Given the description of an element on the screen output the (x, y) to click on. 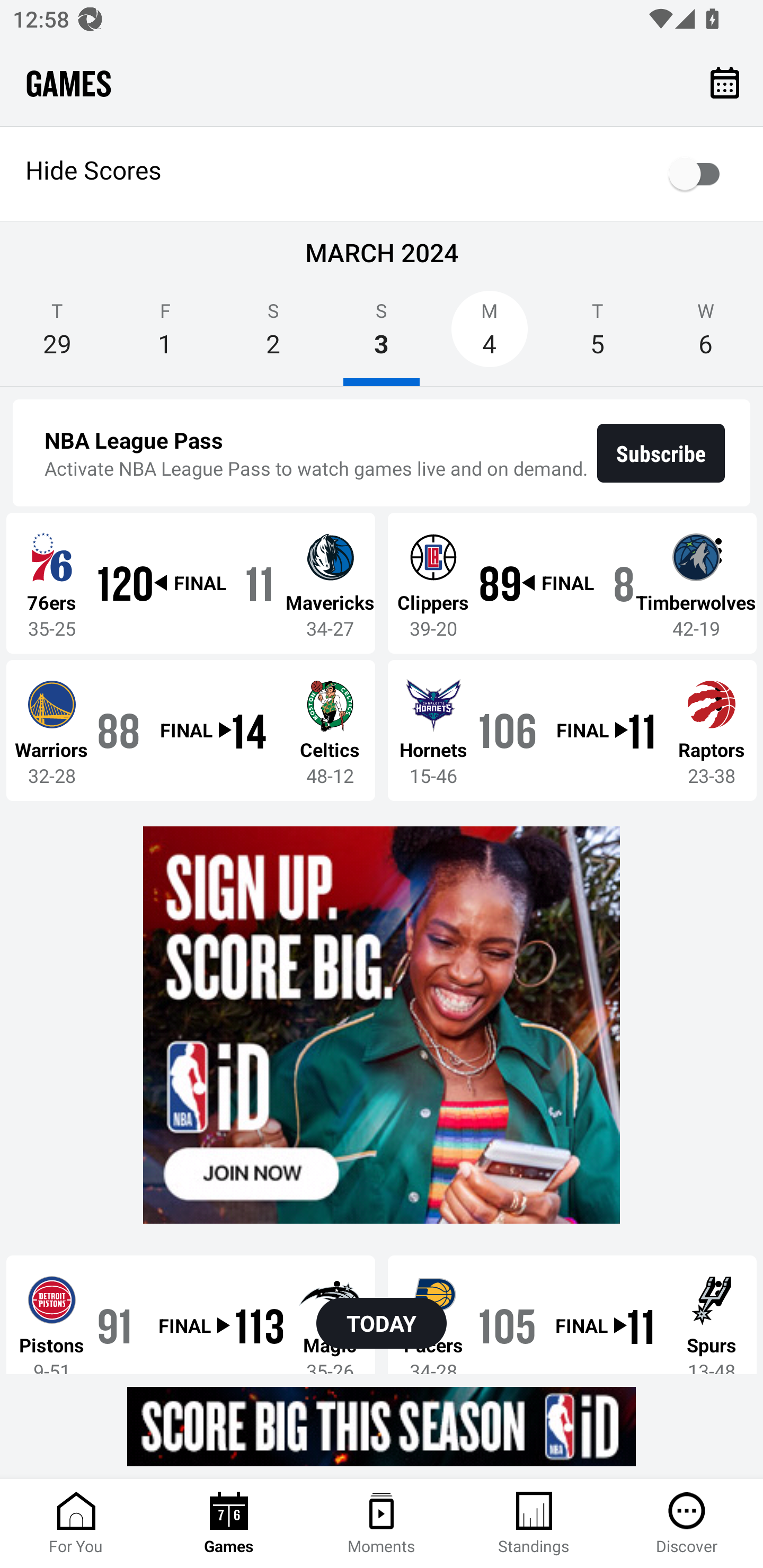
Calendar (724, 81)
Hide Scores (381, 174)
T 29 (57, 334)
F 1 (165, 334)
S 2 (273, 334)
S 3 (381, 334)
M 4 (489, 334)
T 5 (597, 334)
W 6 (705, 334)
Subscribe (660, 452)
TODAY (381, 1323)
For You (76, 1523)
Moments (381, 1523)
Standings (533, 1523)
Discover (686, 1523)
